Given the description of an element on the screen output the (x, y) to click on. 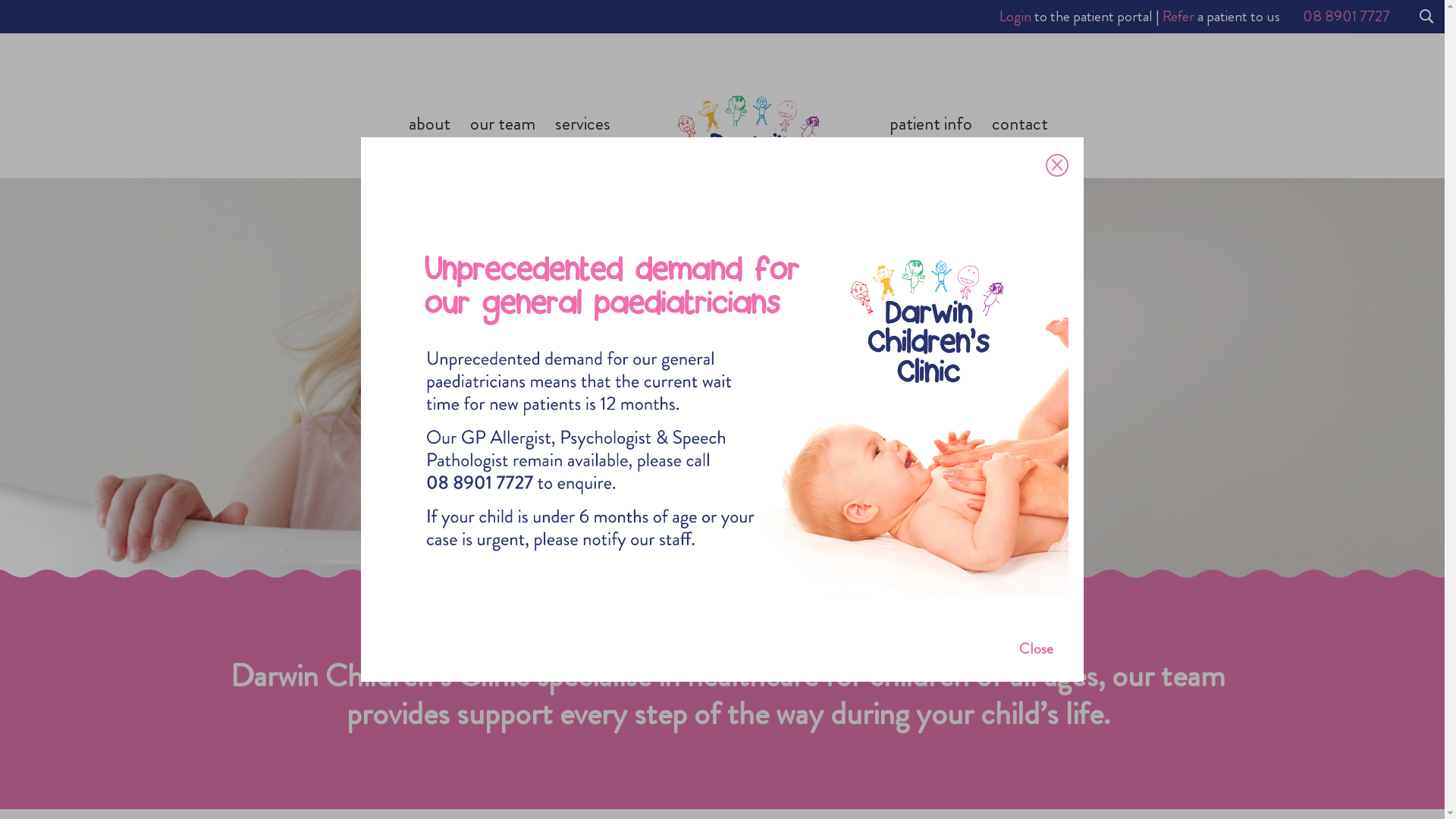
our team Element type: text (502, 148)
contact Element type: text (1019, 148)
Close Element type: text (1036, 648)
Login Element type: text (1015, 16)
Make an appointment Element type: text (817, 432)
services Element type: text (582, 148)
about Element type: text (428, 148)
Refer Element type: text (1178, 16)
08 8901 7727 Element type: text (1350, 16)
One Stop Kid's Health Element type: text (918, 348)
patient info Element type: text (929, 148)
